Given the description of an element on the screen output the (x, y) to click on. 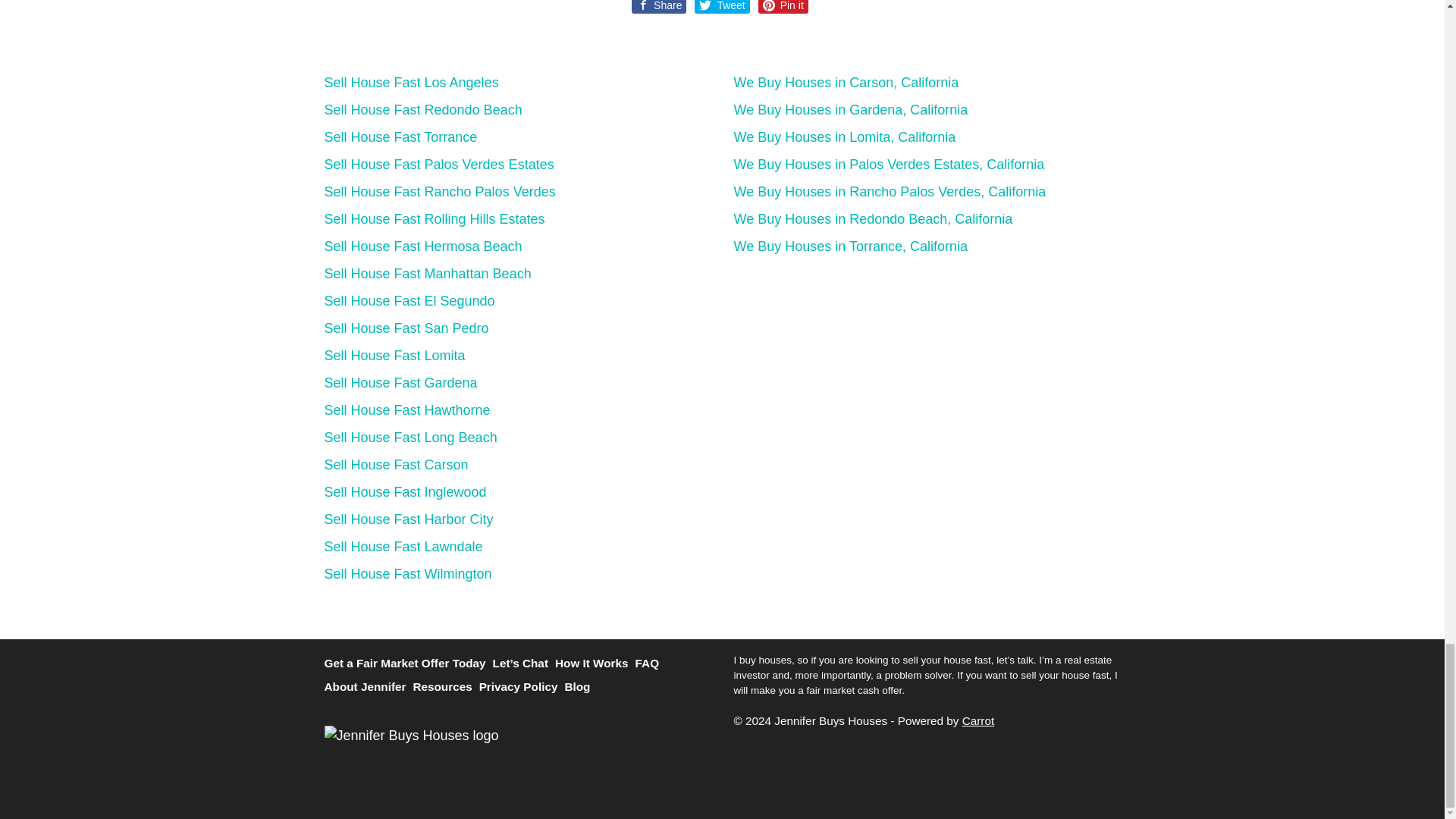
Share on Pinterest (783, 6)
Share on Facebook (658, 6)
Share on Twitter (721, 6)
